Given the description of an element on the screen output the (x, y) to click on. 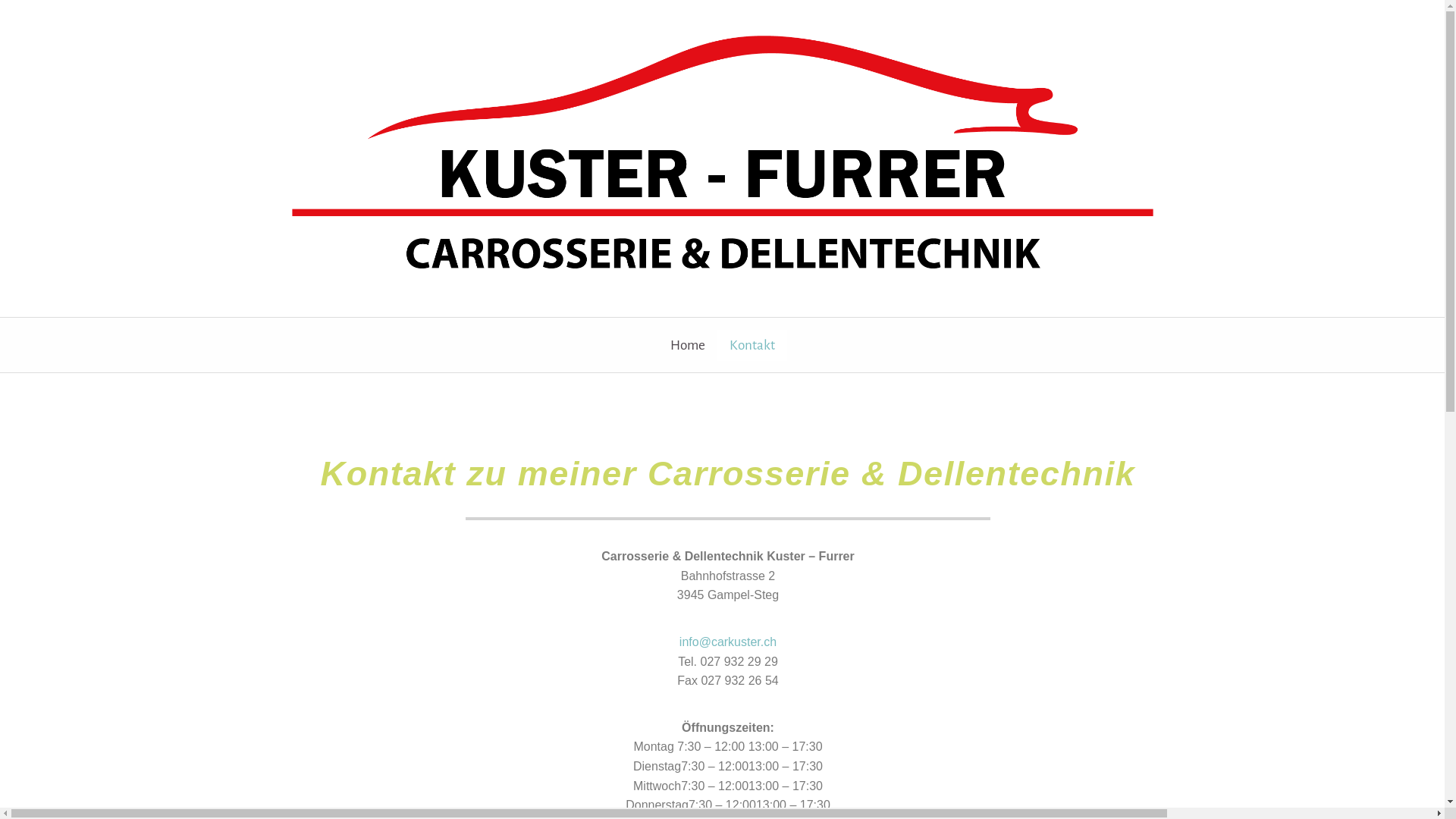
Kontakt Element type: text (752, 345)
info@carkuster.ch Element type: text (727, 641)
Home Element type: text (687, 345)
